Given the description of an element on the screen output the (x, y) to click on. 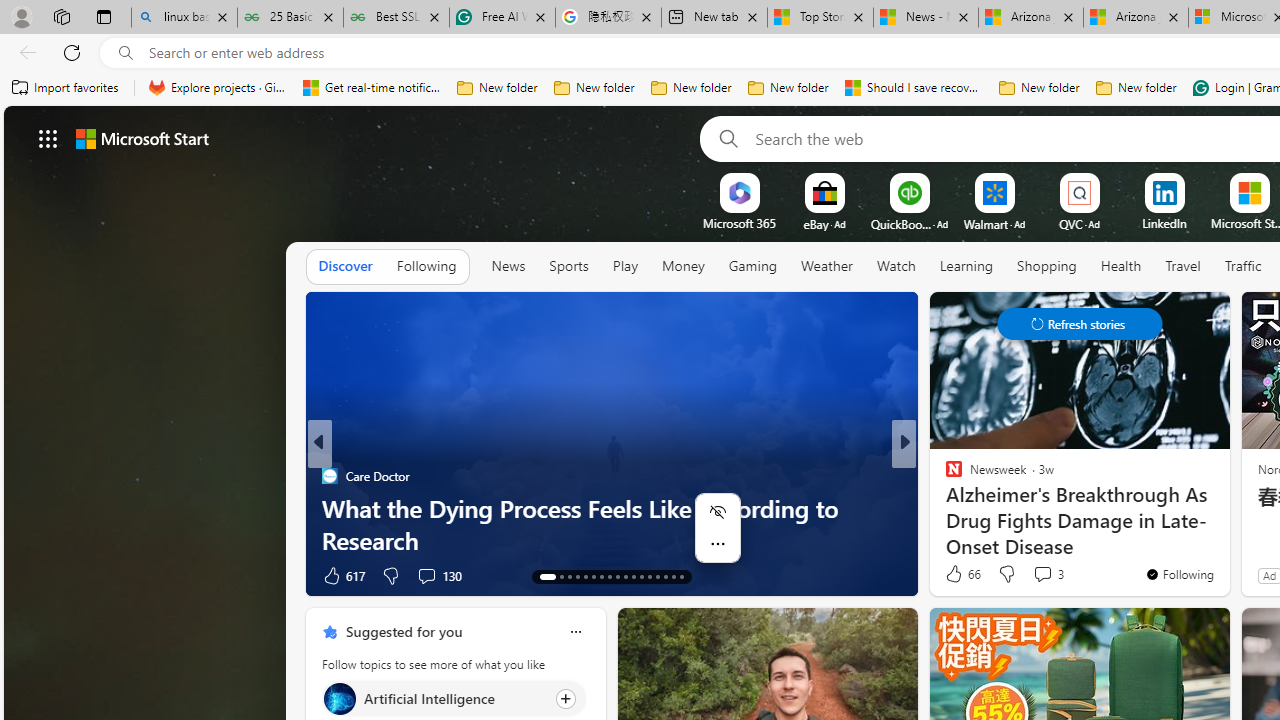
AutomationID: tab-14 (555, 576)
Suggested for you (404, 631)
View comments 2 Comment (1041, 574)
962 Like (959, 574)
TODAY (944, 475)
View comments 3 Comment (1042, 573)
The Weather Channel (944, 475)
AutomationID: tab-23 (632, 576)
View comments 115 Comment (1054, 574)
107 Like (959, 574)
AutomationID: tab-18 (592, 576)
34 Like (956, 574)
